Given the description of an element on the screen output the (x, y) to click on. 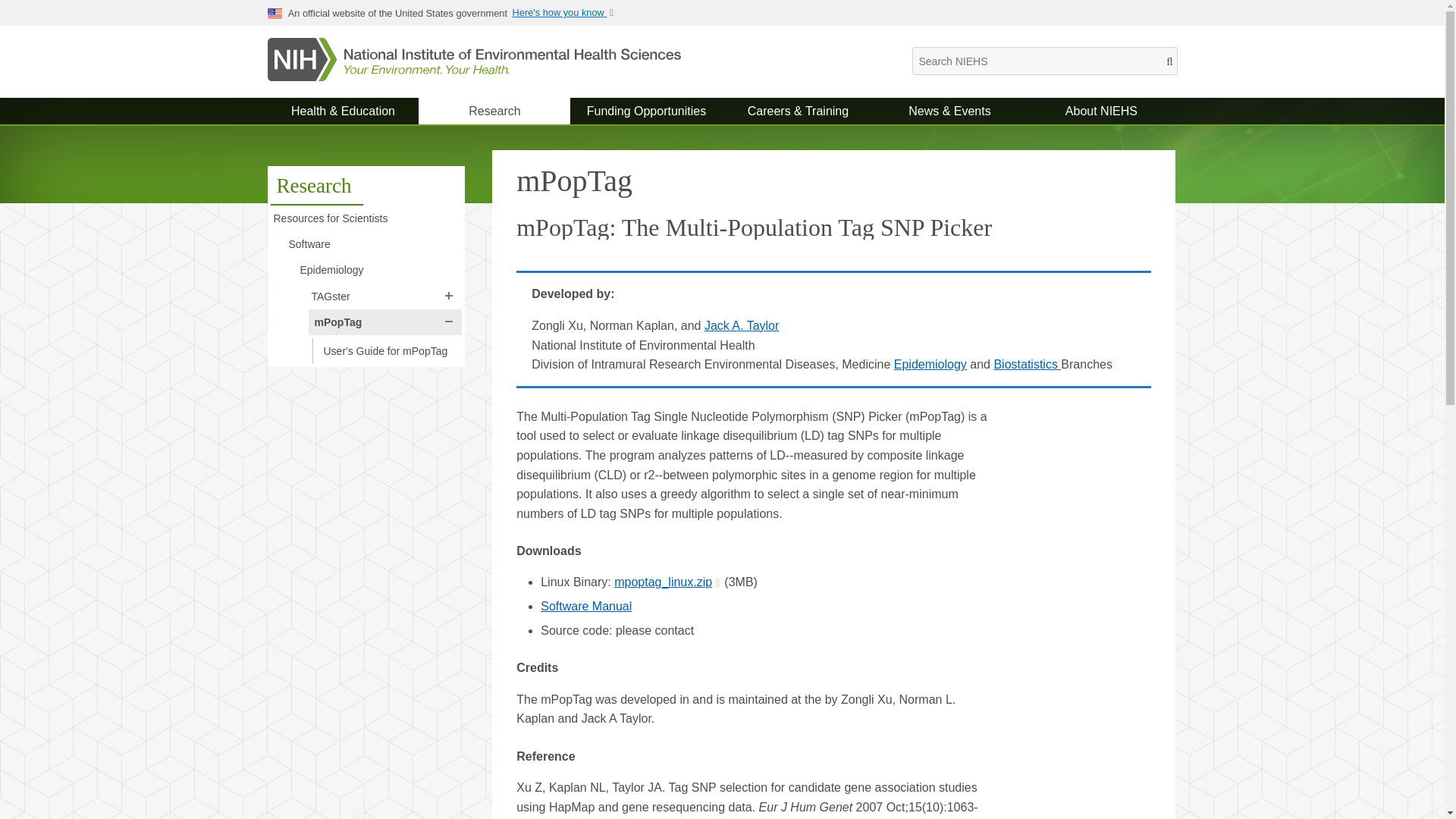
Here's how you know (567, 12)
Search NIEHS (1043, 60)
Epidemiology Branch (929, 364)
7. References (585, 605)
